Given the description of an element on the screen output the (x, y) to click on. 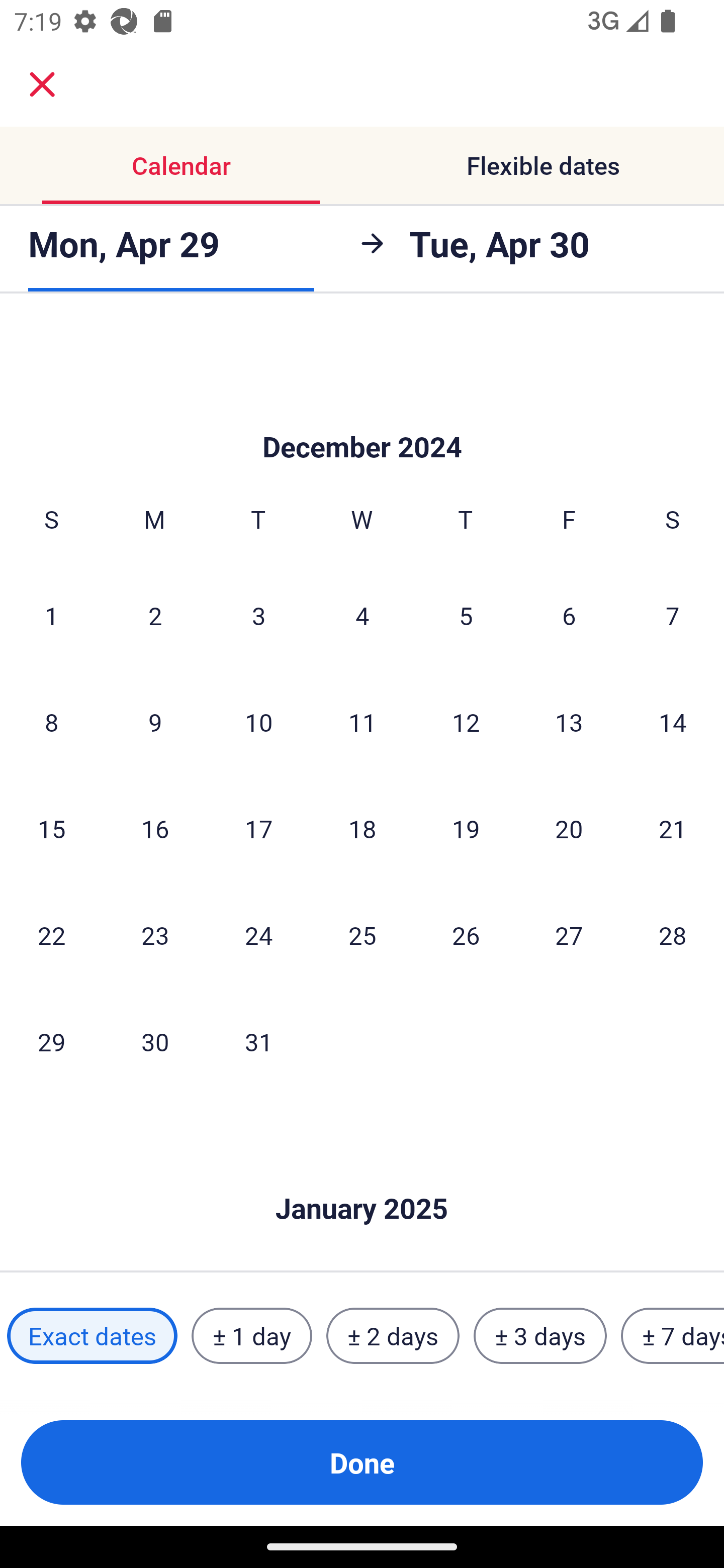
close. (42, 84)
Flexible dates (542, 164)
Skip to Done (362, 416)
1 Sunday, December 1, 2024 (51, 615)
2 Monday, December 2, 2024 (155, 615)
3 Tuesday, December 3, 2024 (258, 615)
4 Wednesday, December 4, 2024 (362, 615)
5 Thursday, December 5, 2024 (465, 615)
6 Friday, December 6, 2024 (569, 615)
7 Saturday, December 7, 2024 (672, 615)
8 Sunday, December 8, 2024 (51, 722)
9 Monday, December 9, 2024 (155, 722)
10 Tuesday, December 10, 2024 (258, 722)
11 Wednesday, December 11, 2024 (362, 722)
12 Thursday, December 12, 2024 (465, 722)
13 Friday, December 13, 2024 (569, 722)
14 Saturday, December 14, 2024 (672, 722)
15 Sunday, December 15, 2024 (51, 828)
16 Monday, December 16, 2024 (155, 828)
17 Tuesday, December 17, 2024 (258, 828)
18 Wednesday, December 18, 2024 (362, 828)
19 Thursday, December 19, 2024 (465, 828)
20 Friday, December 20, 2024 (569, 828)
21 Saturday, December 21, 2024 (672, 828)
22 Sunday, December 22, 2024 (51, 934)
23 Monday, December 23, 2024 (155, 934)
24 Tuesday, December 24, 2024 (258, 934)
25 Wednesday, December 25, 2024 (362, 934)
26 Thursday, December 26, 2024 (465, 934)
27 Friday, December 27, 2024 (569, 934)
28 Saturday, December 28, 2024 (672, 934)
29 Sunday, December 29, 2024 (51, 1040)
30 Monday, December 30, 2024 (155, 1040)
31 Tuesday, December 31, 2024 (258, 1040)
Skip to Done (362, 1178)
Exact dates (92, 1335)
± 1 day (251, 1335)
± 2 days (392, 1335)
± 3 days (539, 1335)
± 7 days (672, 1335)
Done (361, 1462)
